Given the description of an element on the screen output the (x, y) to click on. 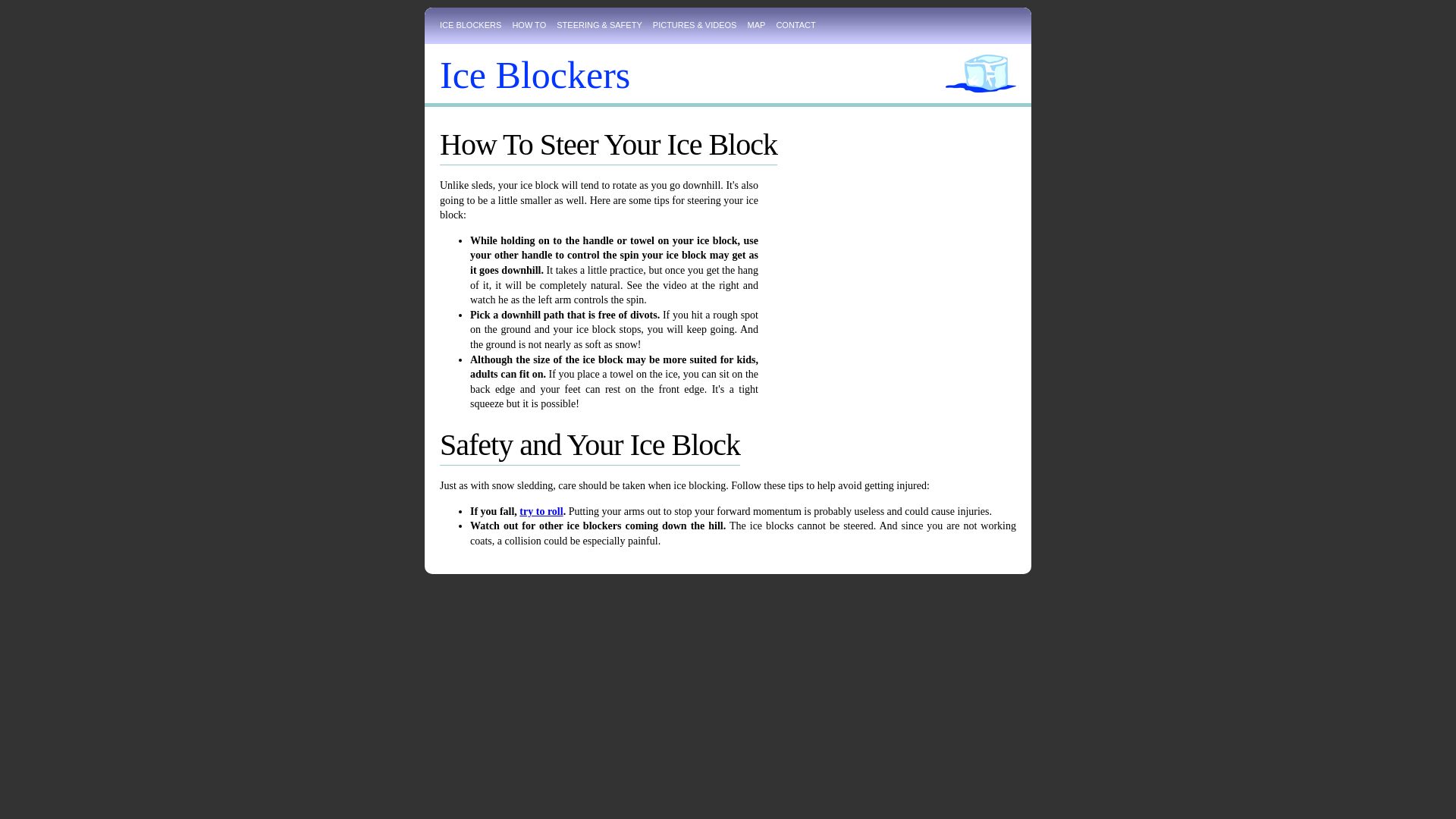
try to roll (540, 510)
ICE BLOCKERS (474, 24)
MAP (761, 24)
HOW TO (533, 24)
Ice Blockers (534, 75)
CONTACT (800, 24)
